Given the description of an element on the screen output the (x, y) to click on. 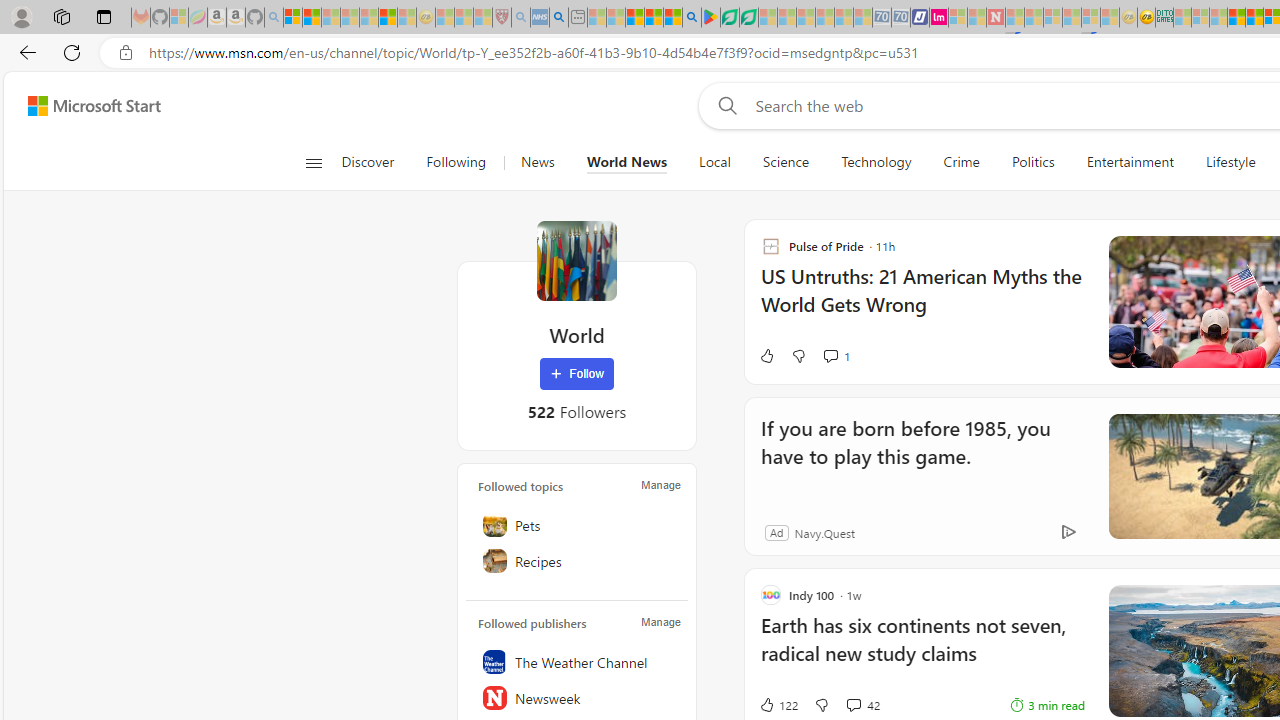
DITOGAMES AG Imprint (1163, 17)
Crime (960, 162)
Open navigation menu (313, 162)
Lifestyle (1230, 162)
The Weather Channel - MSN - Sleeping (331, 17)
Earth has six continents not seven, radical new study claims (922, 650)
View comments 42 Comment (862, 704)
122 Like (778, 704)
Jobs - lastminute.com Investor Portal (939, 17)
